Given the description of an element on the screen output the (x, y) to click on. 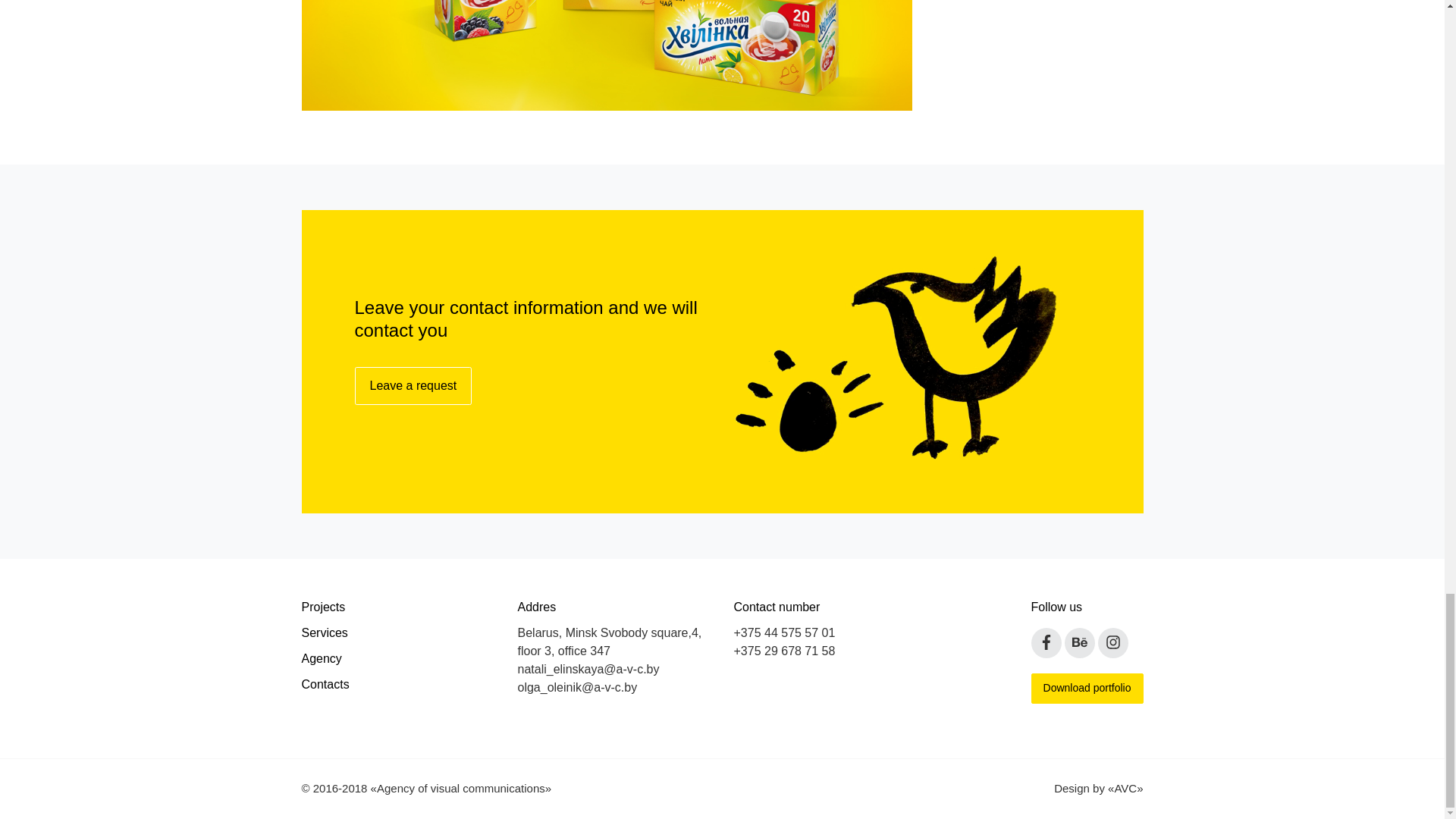
Contacts (398, 680)
Services (398, 629)
Agency (398, 655)
Download portfolio (1086, 688)
Projects (398, 603)
